Given the description of an element on the screen output the (x, y) to click on. 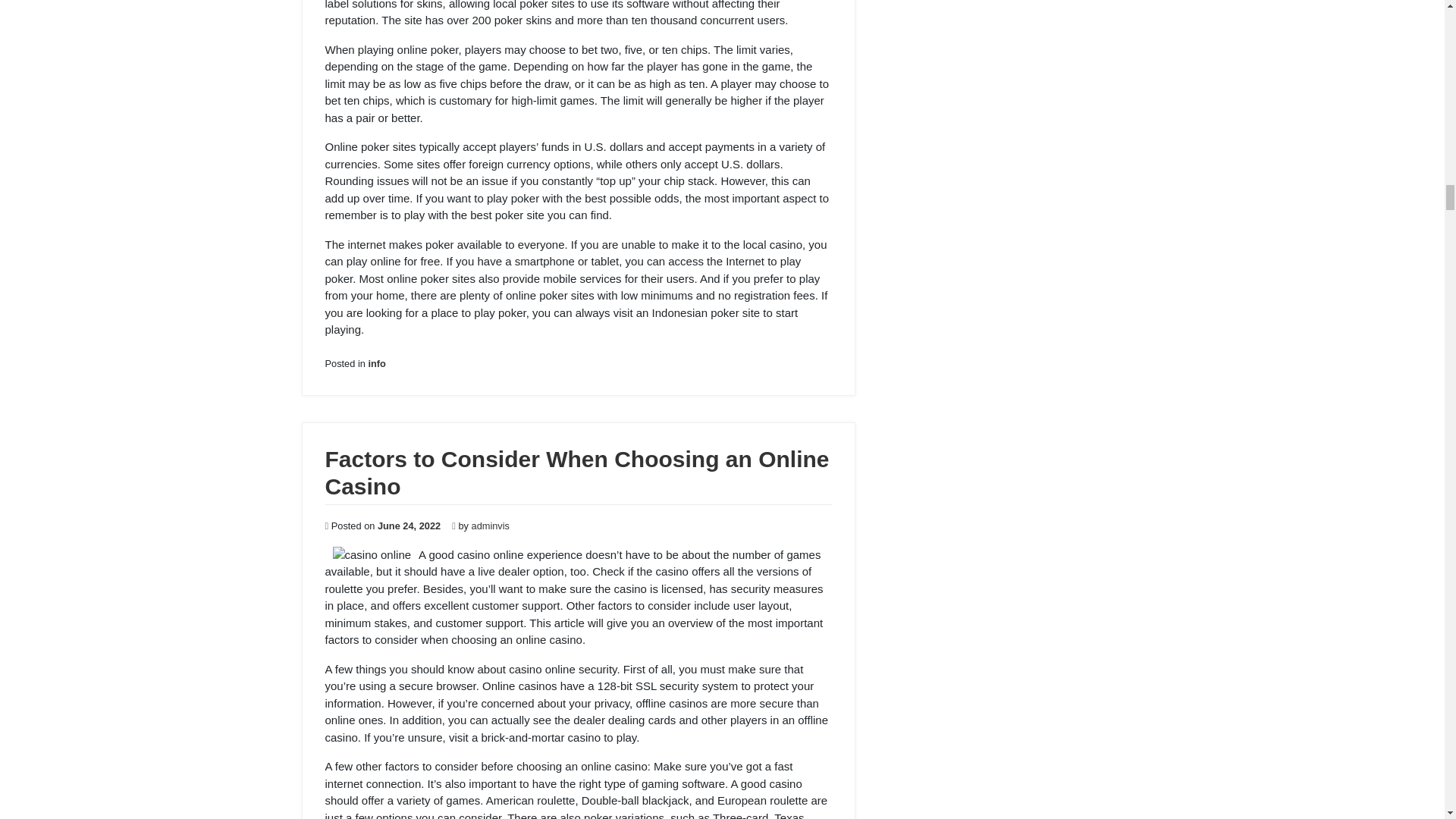
info (376, 363)
June 24, 2022 (409, 525)
Factors to Consider When Choosing an Online Casino (576, 471)
adminvis (491, 525)
